Given the description of an element on the screen output the (x, y) to click on. 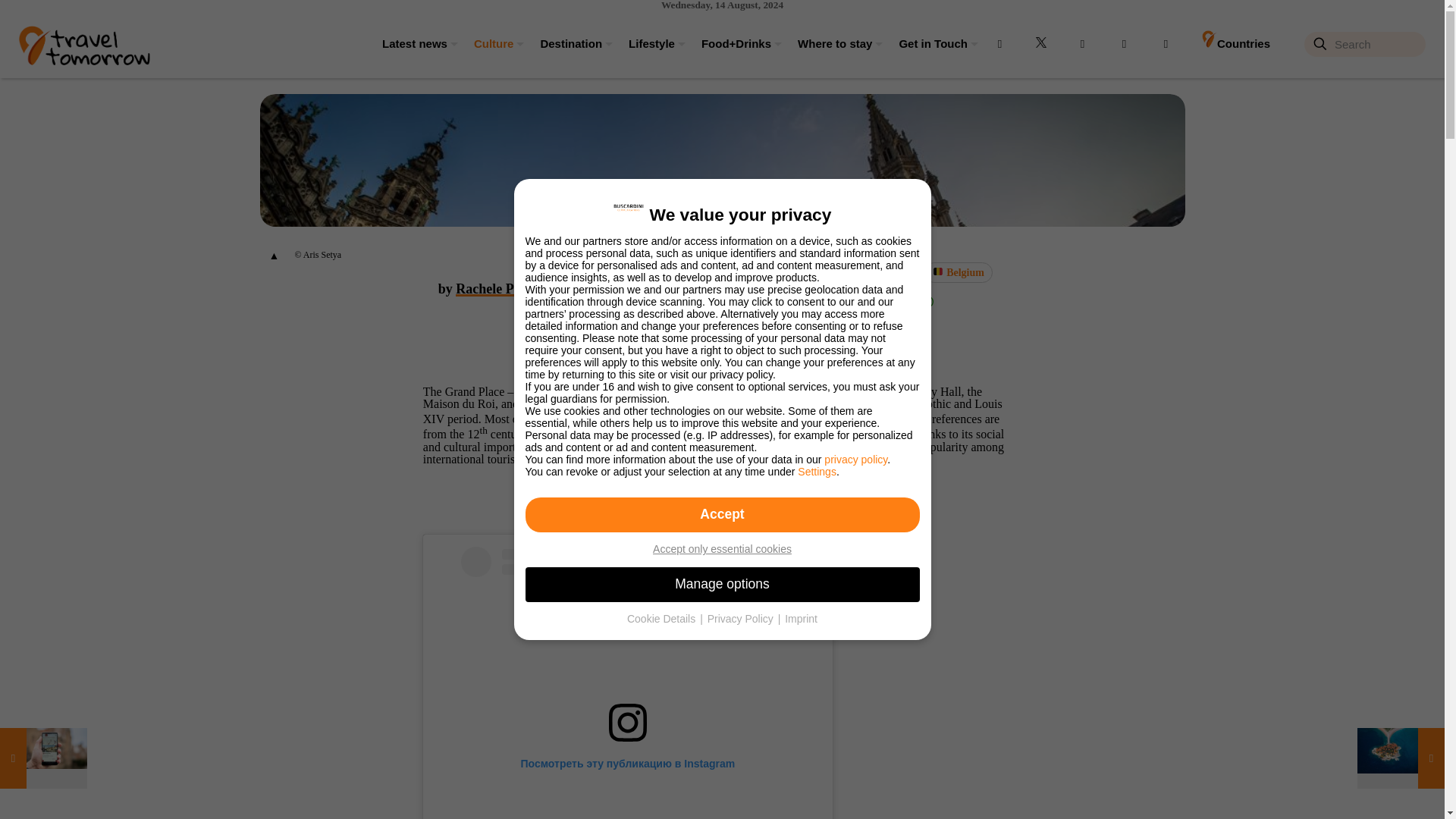
Destination (568, 43)
Share on Twitter (847, 301)
Share on Email (900, 301)
Culture (491, 43)
Travel Tomorrow (83, 43)
Share on LinkedIn (874, 301)
Latest news (412, 43)
Share on Facebook (820, 301)
Share on WhatsApp (927, 301)
Lifestyle (648, 43)
